Given the description of an element on the screen output the (x, y) to click on. 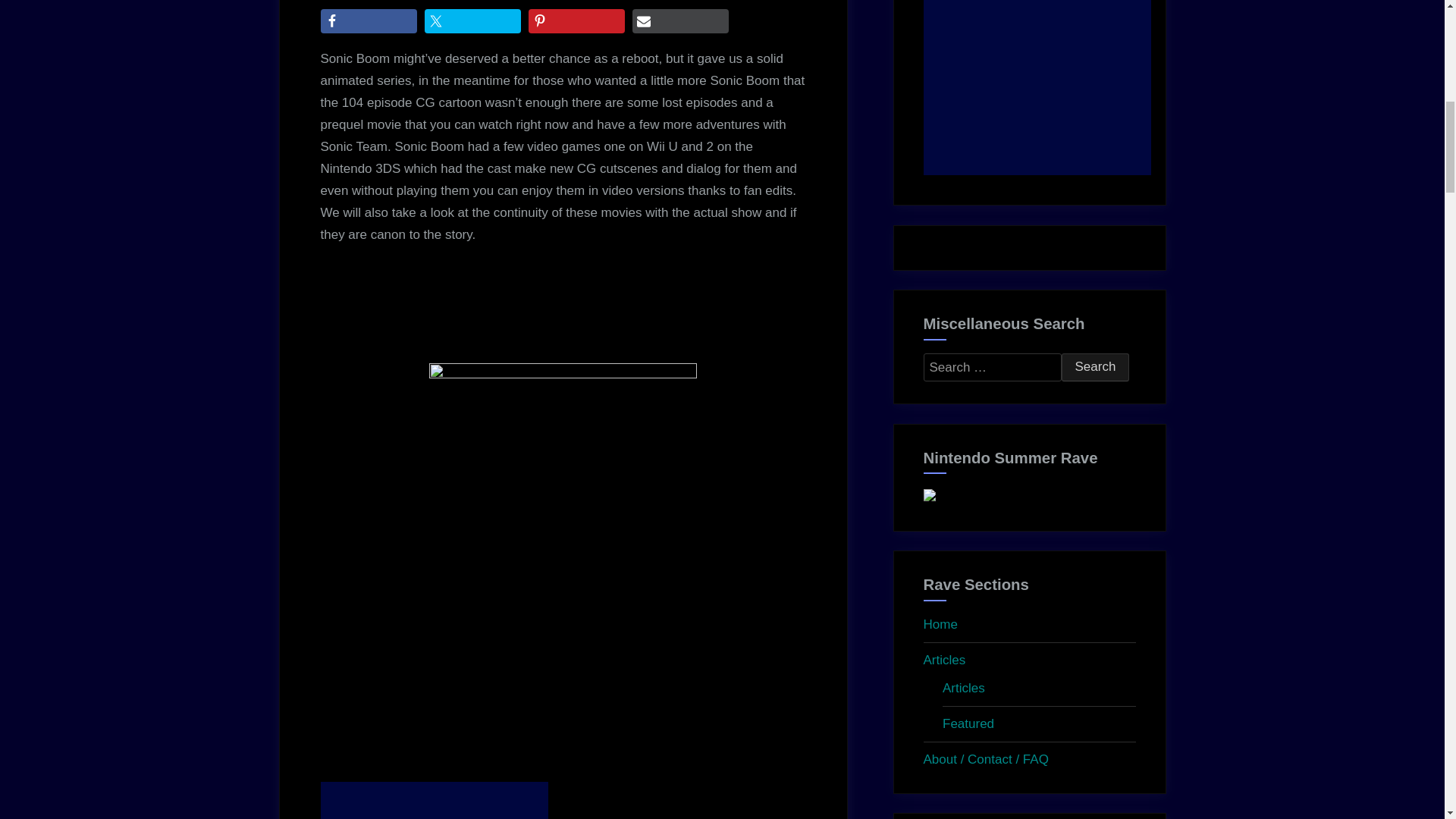
Search (1095, 367)
Share on Facebook (368, 21)
Articles (944, 659)
Home (940, 624)
Search (1095, 367)
Articles (963, 687)
Share on Twitter (473, 21)
Share on Pinterest (575, 21)
Share via Email (680, 21)
Search (1095, 367)
Featured (968, 723)
